Given the description of an element on the screen output the (x, y) to click on. 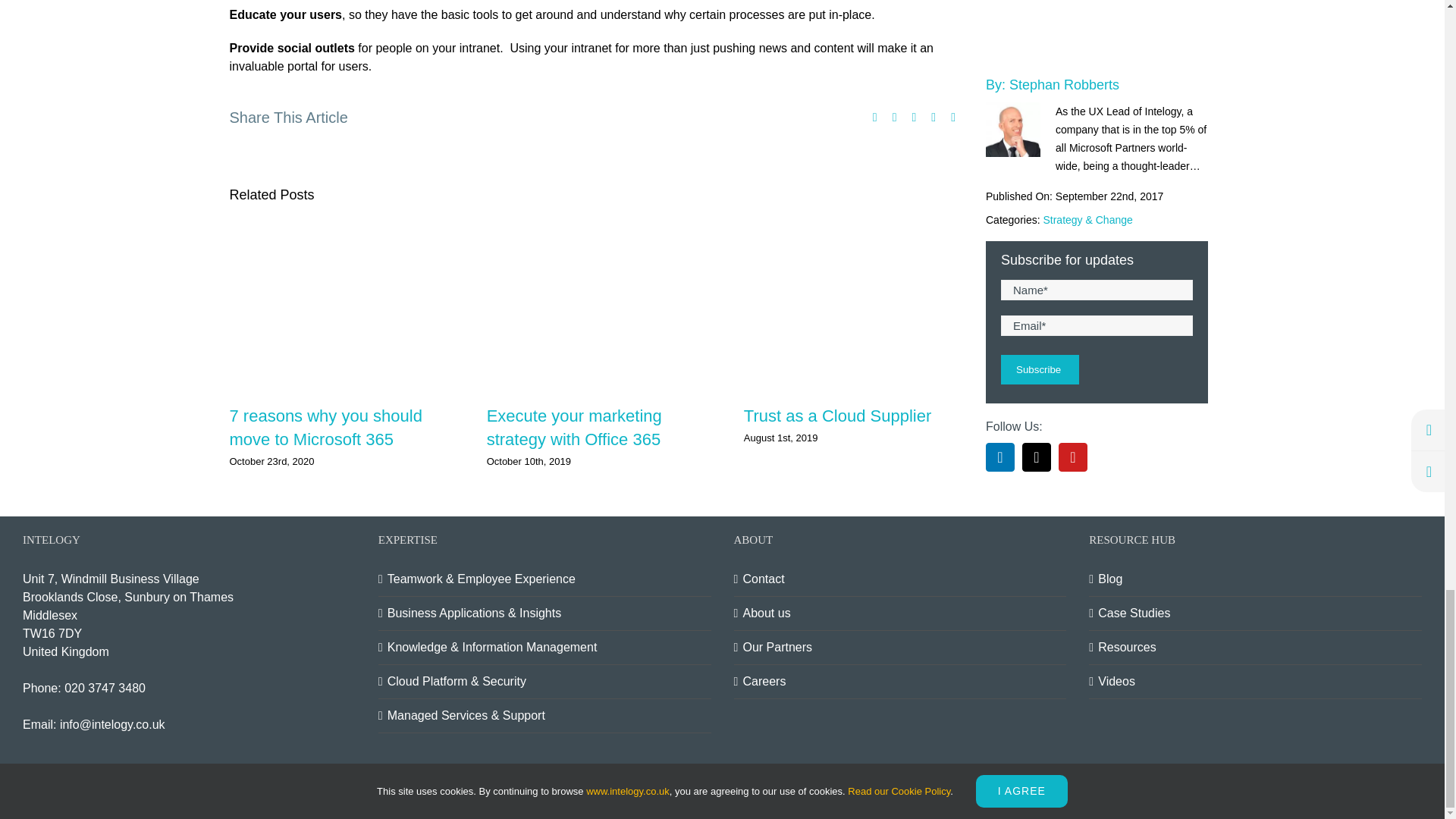
7 reasons why you should move to Microsoft 365 (325, 427)
LinkedIn (913, 117)
LinkedIn (1334, 784)
X (1371, 784)
Email (952, 117)
WhatsApp (933, 117)
Trust as a Cloud Supplier (837, 415)
Execute your marketing strategy with Office 365 (574, 427)
Reddit (894, 117)
X (874, 117)
